Given the description of an element on the screen output the (x, y) to click on. 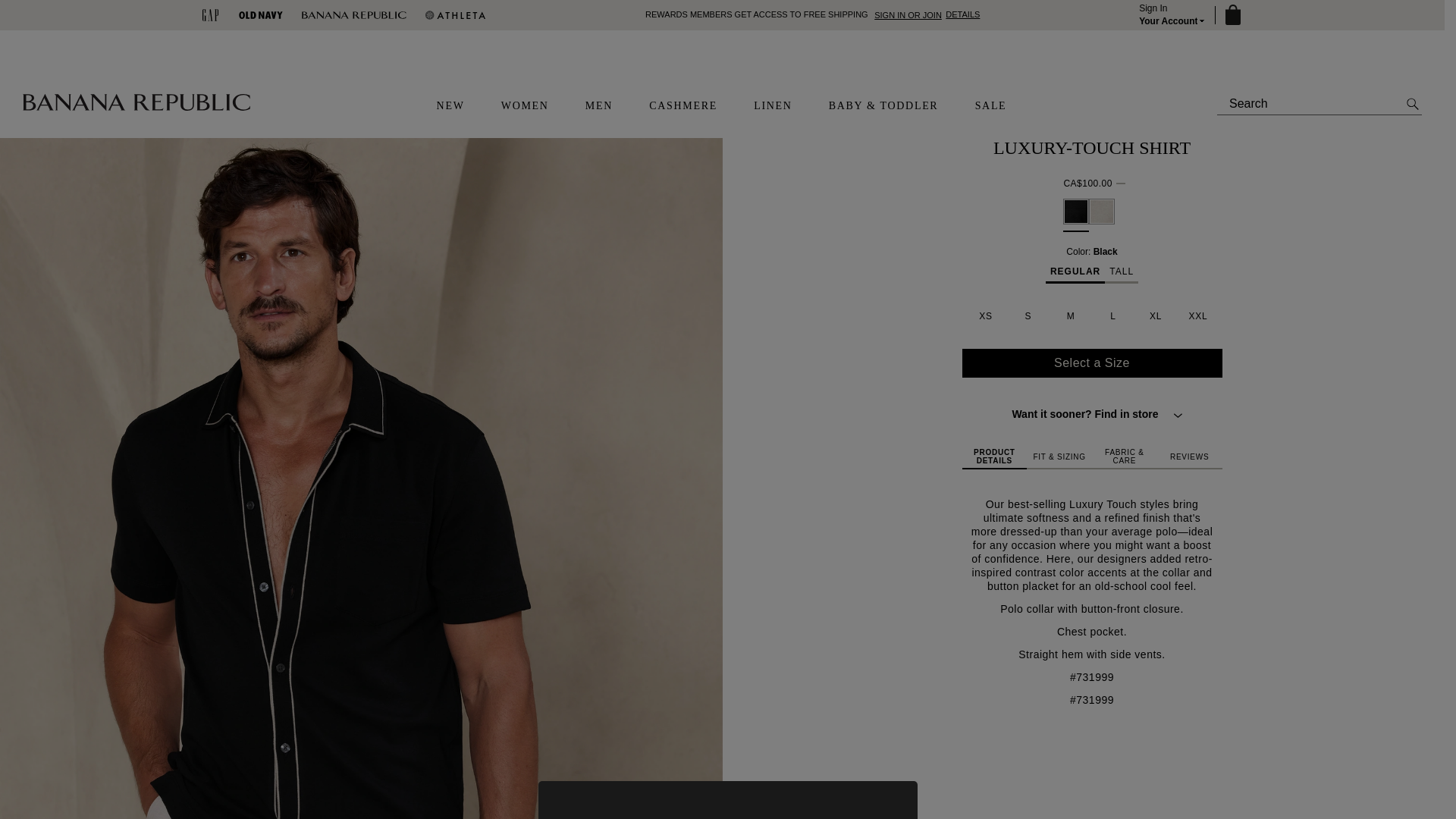
WOMEN (524, 106)
Oatmeal Heather (1101, 210)
Bag (1232, 15)
DETAILS (961, 13)
LINEN (773, 106)
NEW (450, 106)
MEN (598, 106)
SALE (991, 106)
REVIEWS (1190, 457)
CASHMERE (683, 106)
Black (1075, 210)
PRODUCT DETAILS (993, 457)
